Given the description of an element on the screen output the (x, y) to click on. 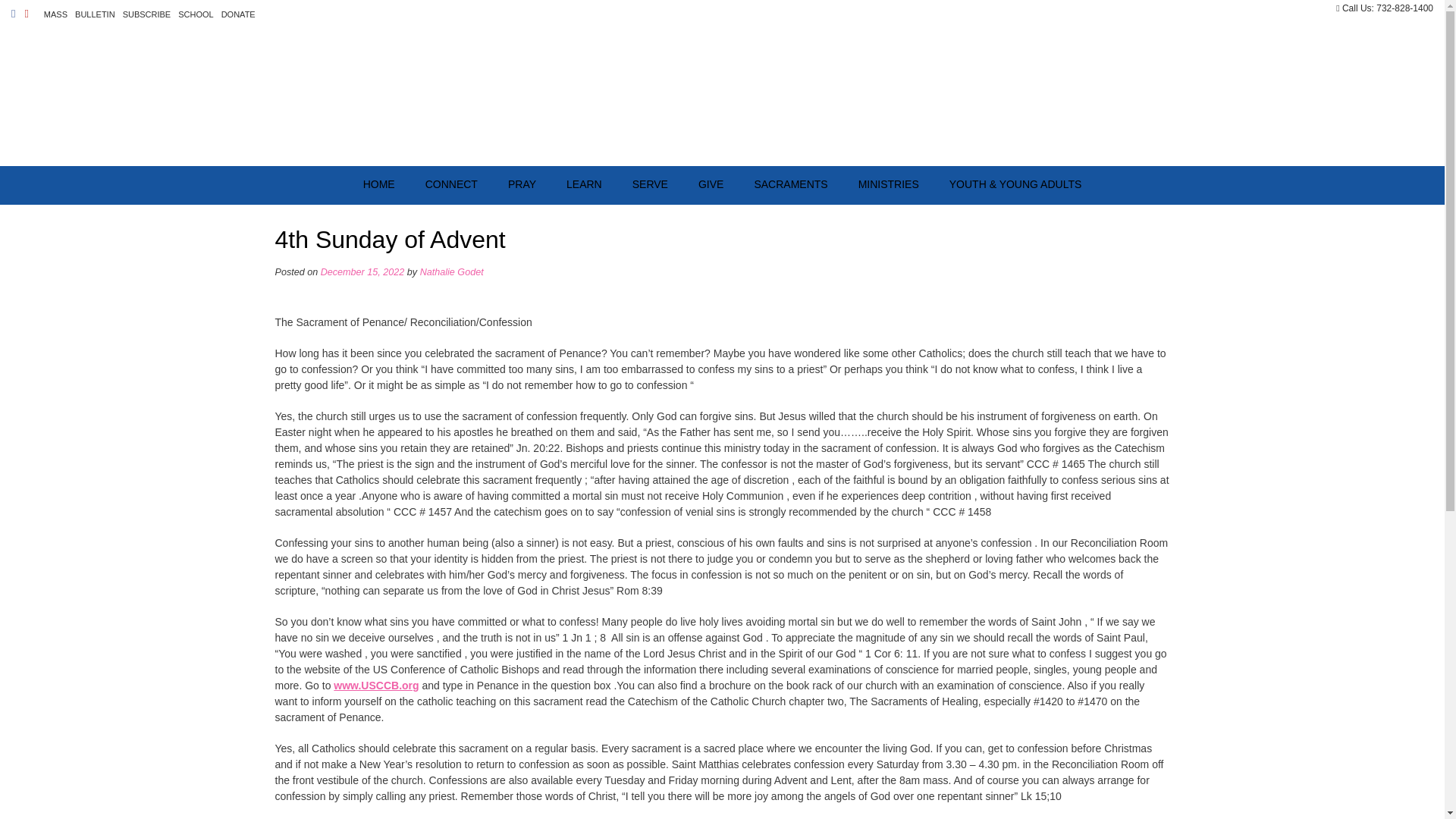
GIVE (710, 185)
BULLETIN (94, 14)
SACRAMENTS (790, 185)
The Catholic Community of St. Matthias (722, 96)
SERVE (649, 185)
HOME (378, 185)
MINISTRIES (888, 185)
CONNECT (451, 185)
PRAY (522, 185)
SCHOOL (194, 14)
